Given the description of an element on the screen output the (x, y) to click on. 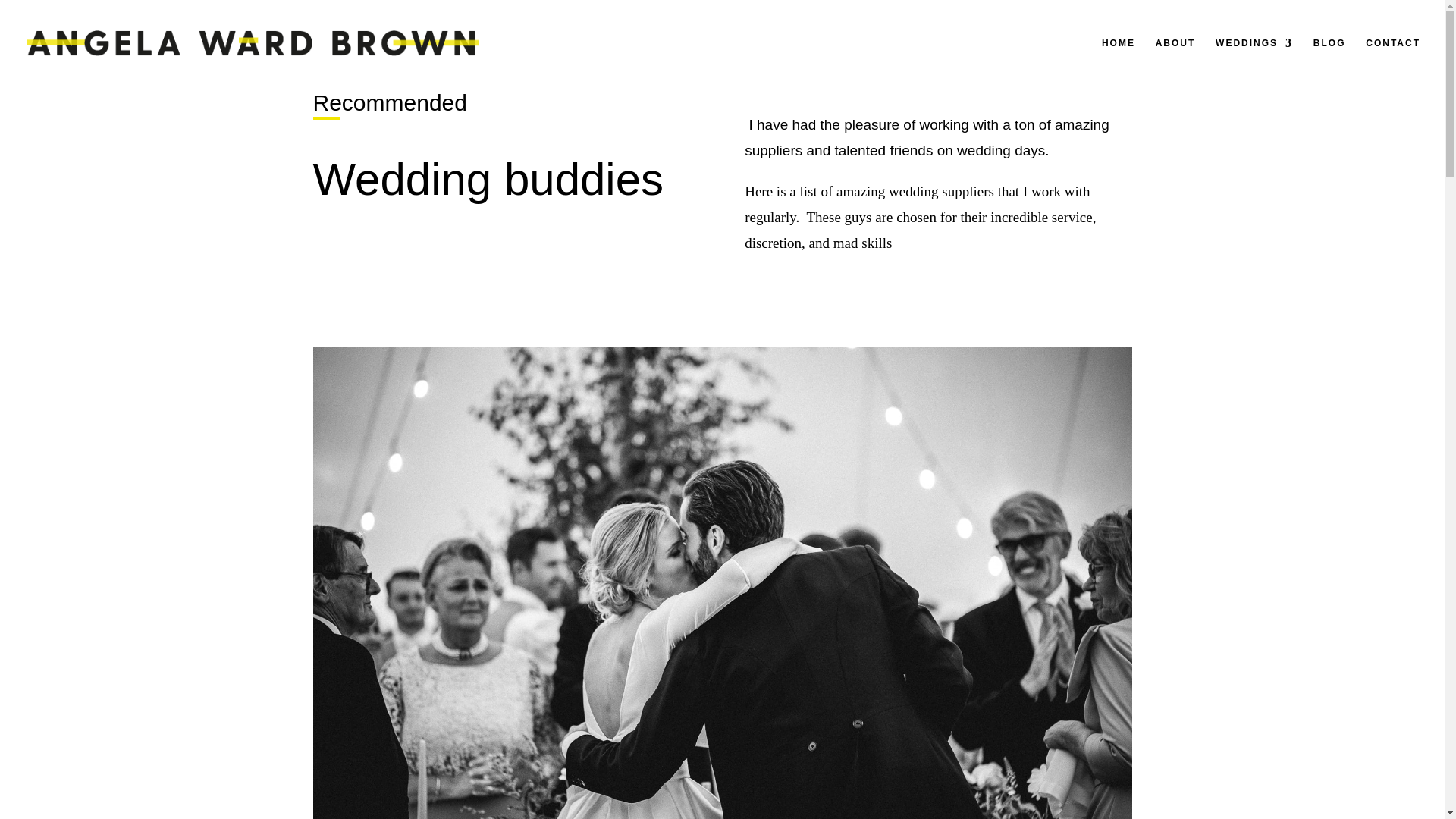
WEDDINGS (1253, 61)
CONTACT (1393, 61)
